Given the description of an element on the screen output the (x, y) to click on. 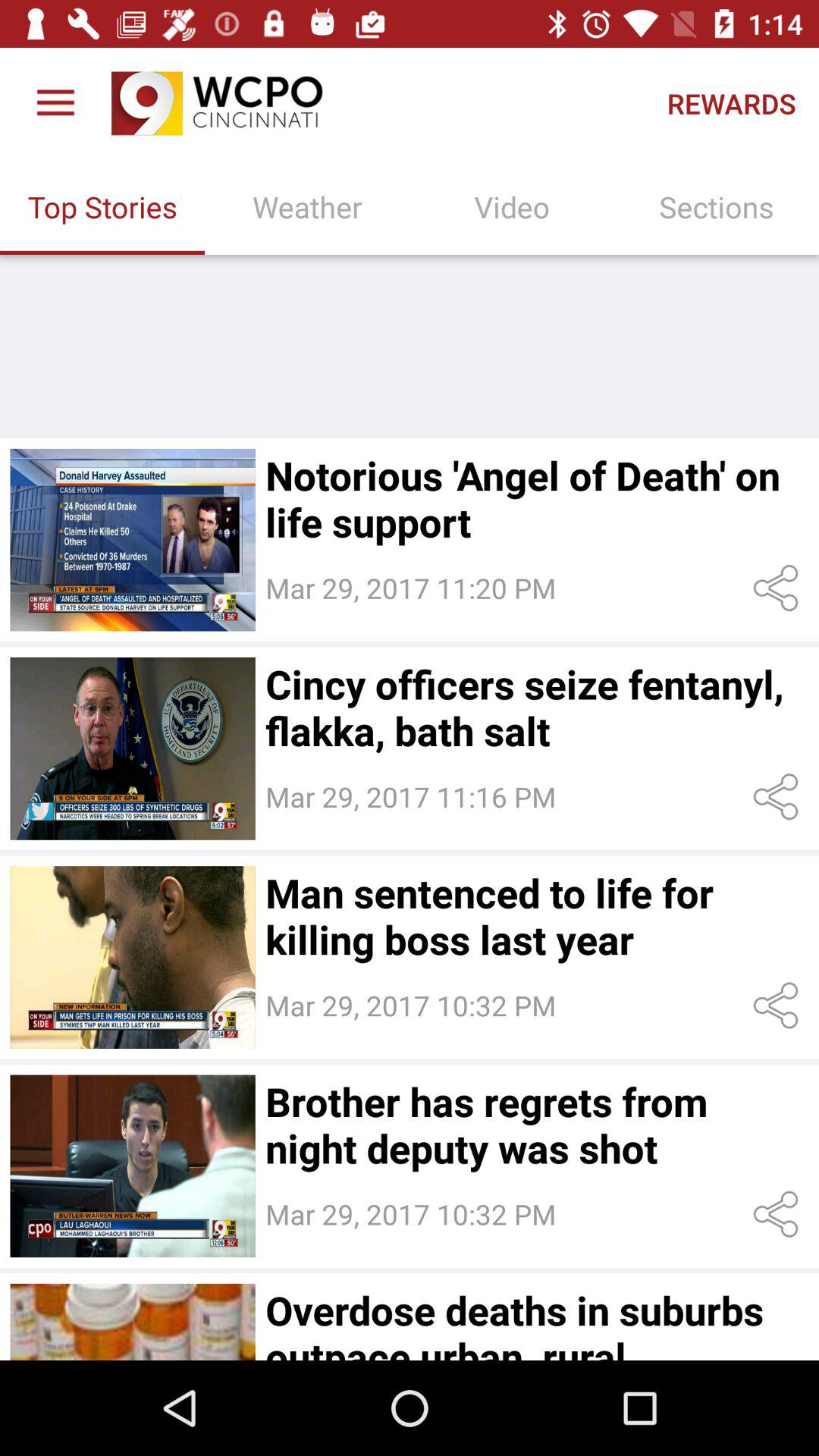
share article (778, 796)
